Given the description of an element on the screen output the (x, y) to click on. 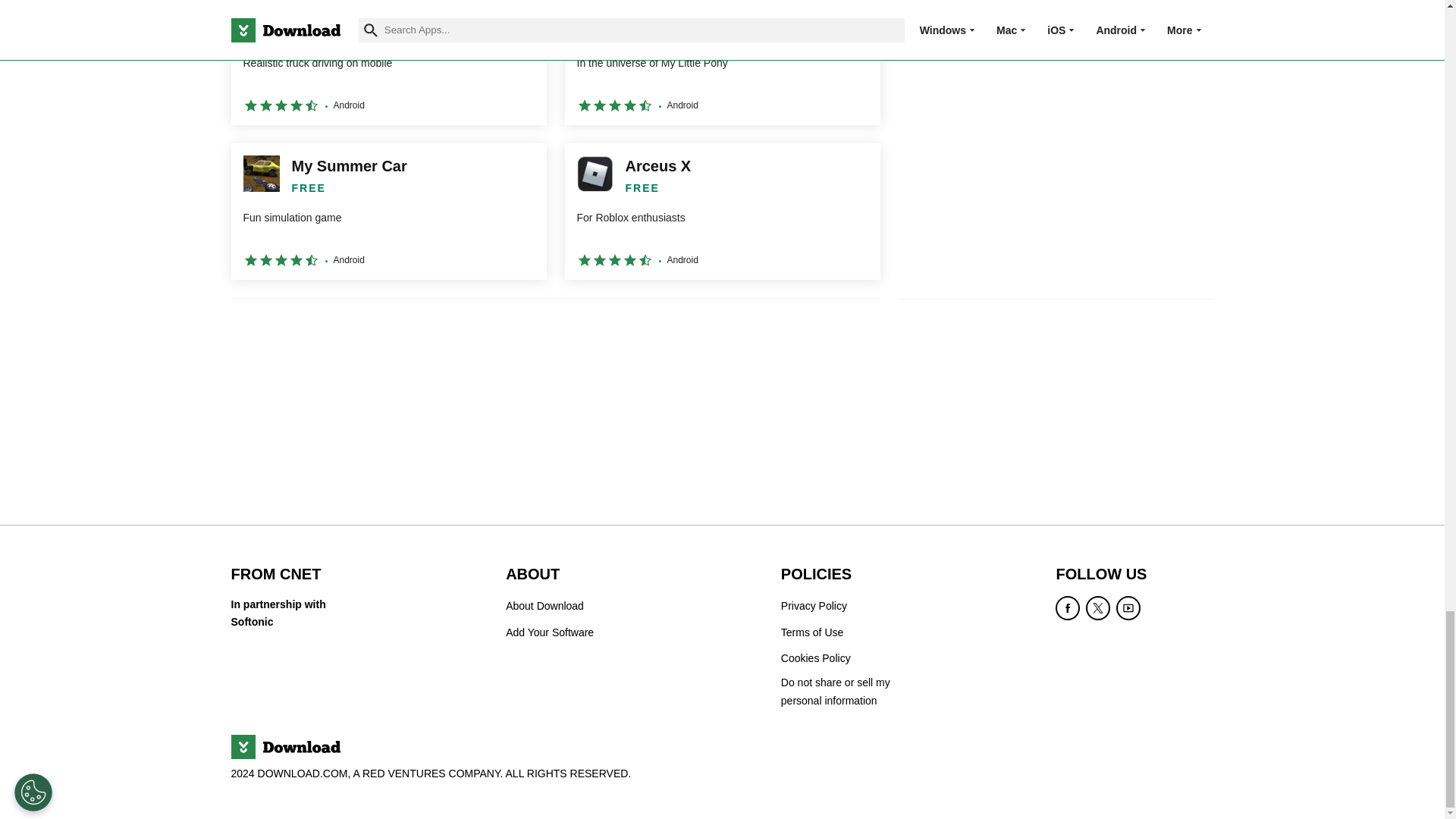
Arceus X (721, 211)
Joy Pony (721, 62)
Download.com (284, 746)
My Summer Car (388, 211)
ETS 2 MOBILE (388, 62)
Become a Facebook fan of Download.com (1067, 607)
